Given the description of an element on the screen output the (x, y) to click on. 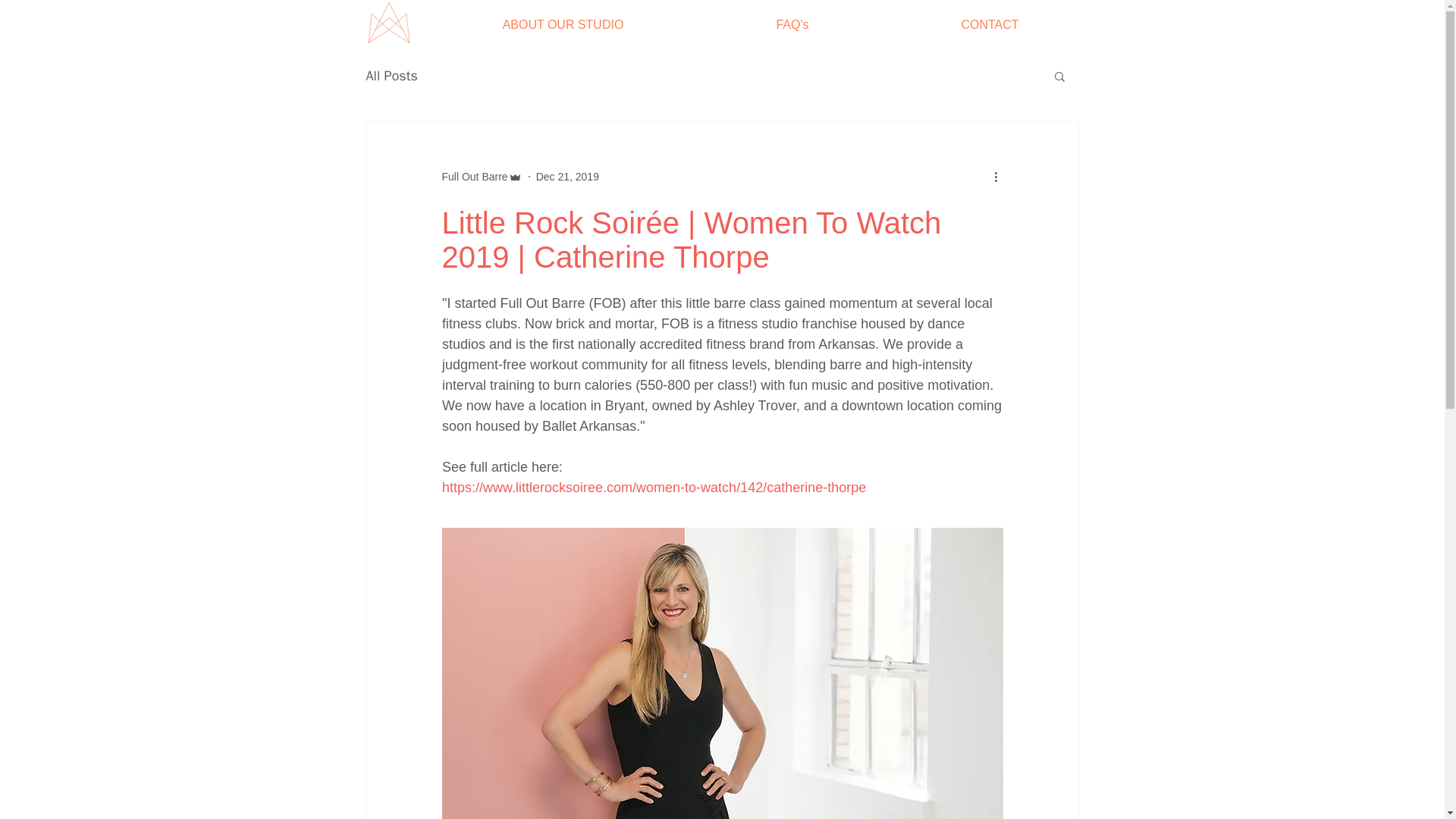
Dec 21, 2019 (566, 175)
FAQ's (791, 24)
Full Out Barre (473, 176)
Full Out Barre (481, 176)
All Posts (390, 75)
CONTACT (989, 24)
